Given the description of an element on the screen output the (x, y) to click on. 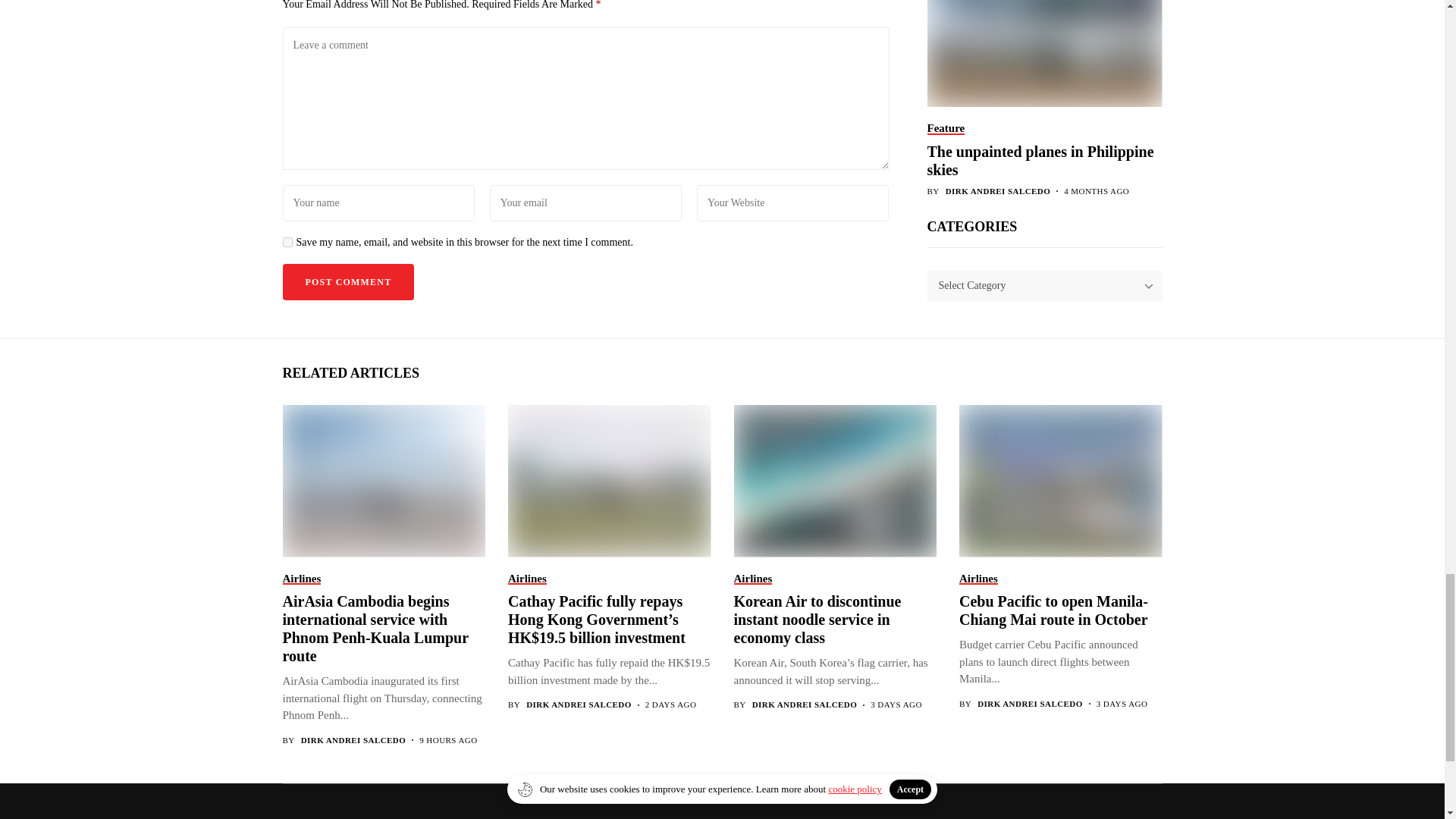
yes (287, 242)
Posts by Dirk Andrei Salcedo (804, 705)
Posts by Dirk Andrei Salcedo (1029, 704)
Posts by Dirk Andrei Salcedo (353, 740)
Posts by Dirk Andrei Salcedo (578, 705)
Post Comment (347, 281)
